Given the description of an element on the screen output the (x, y) to click on. 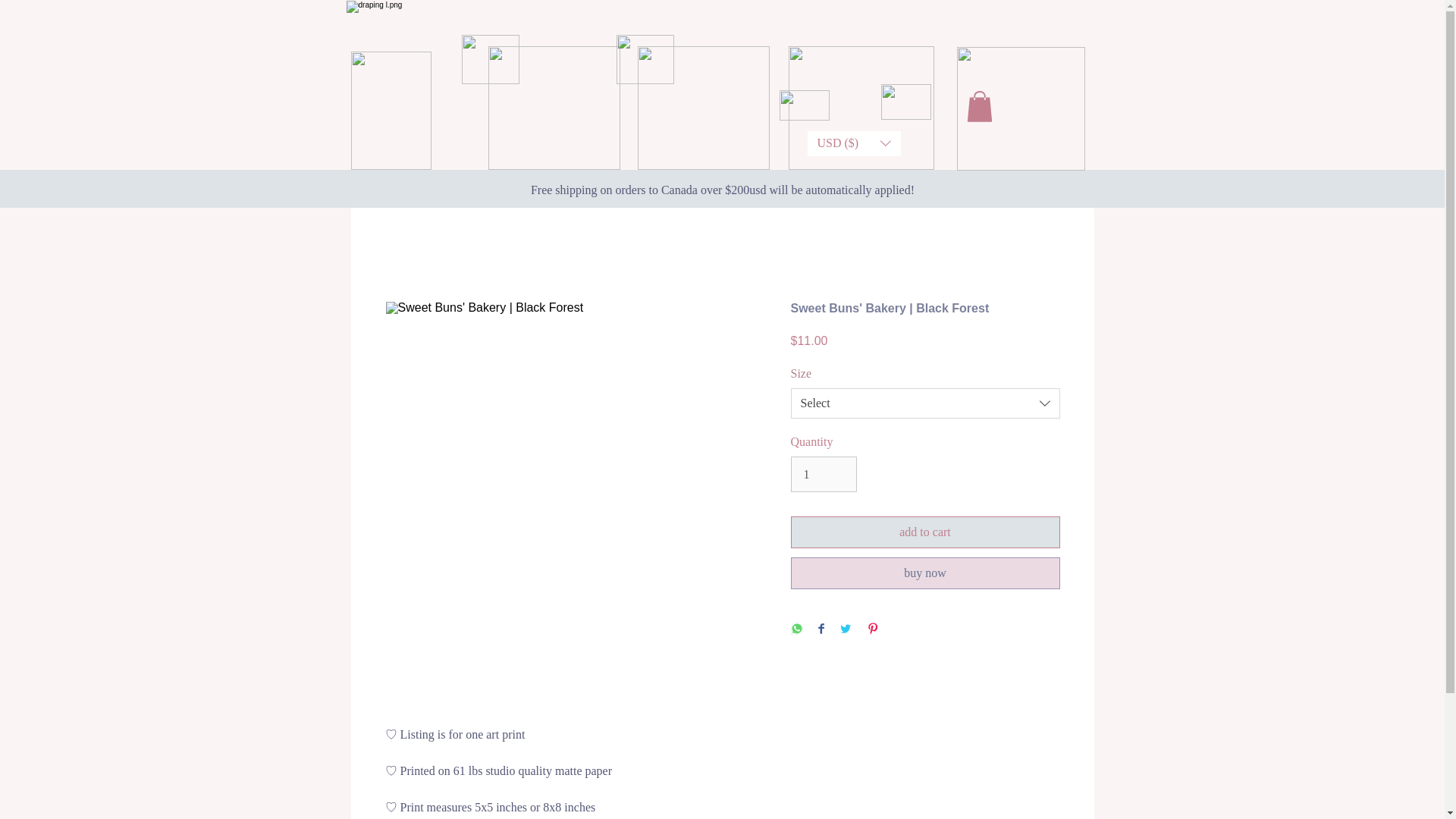
Select (924, 403)
buy now (924, 572)
add to cart (924, 531)
1 (823, 473)
